Given the description of an element on the screen output the (x, y) to click on. 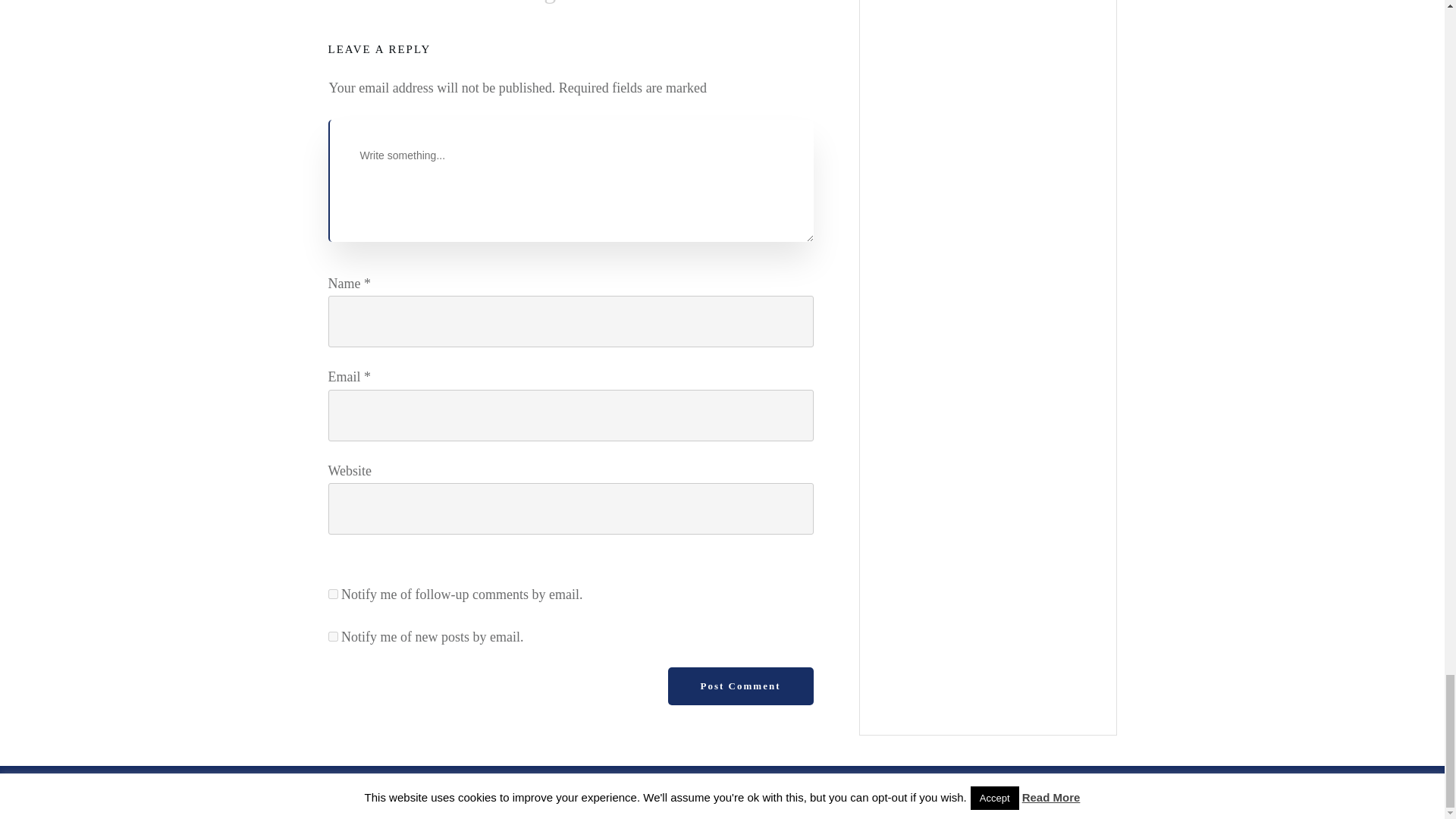
subscribe (332, 593)
subscribe (332, 636)
